Given the description of an element on the screen output the (x, y) to click on. 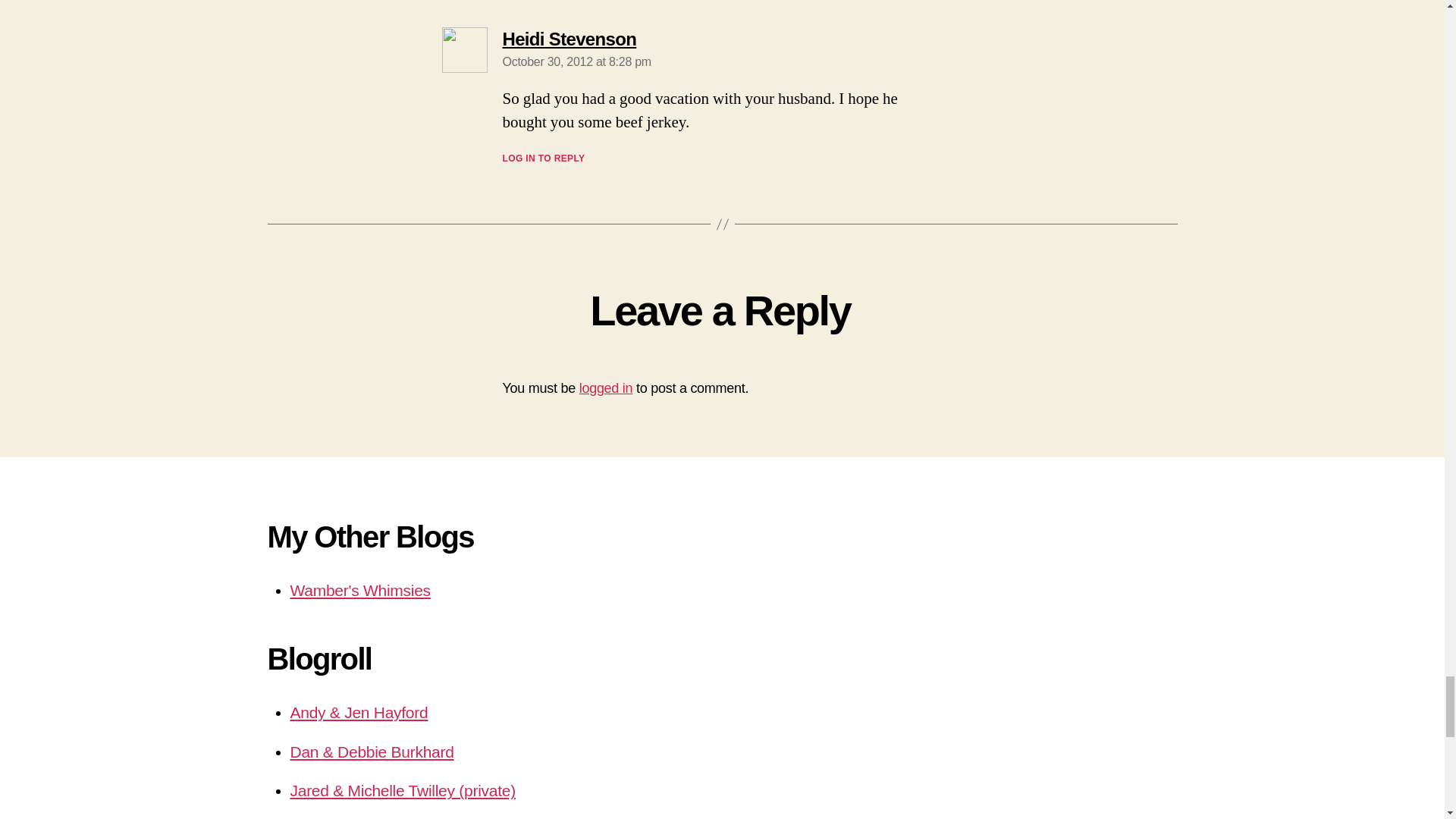
October 30, 2012 at 8:28 pm (576, 61)
My Crafting Blog (359, 589)
